Given the description of an element on the screen output the (x, y) to click on. 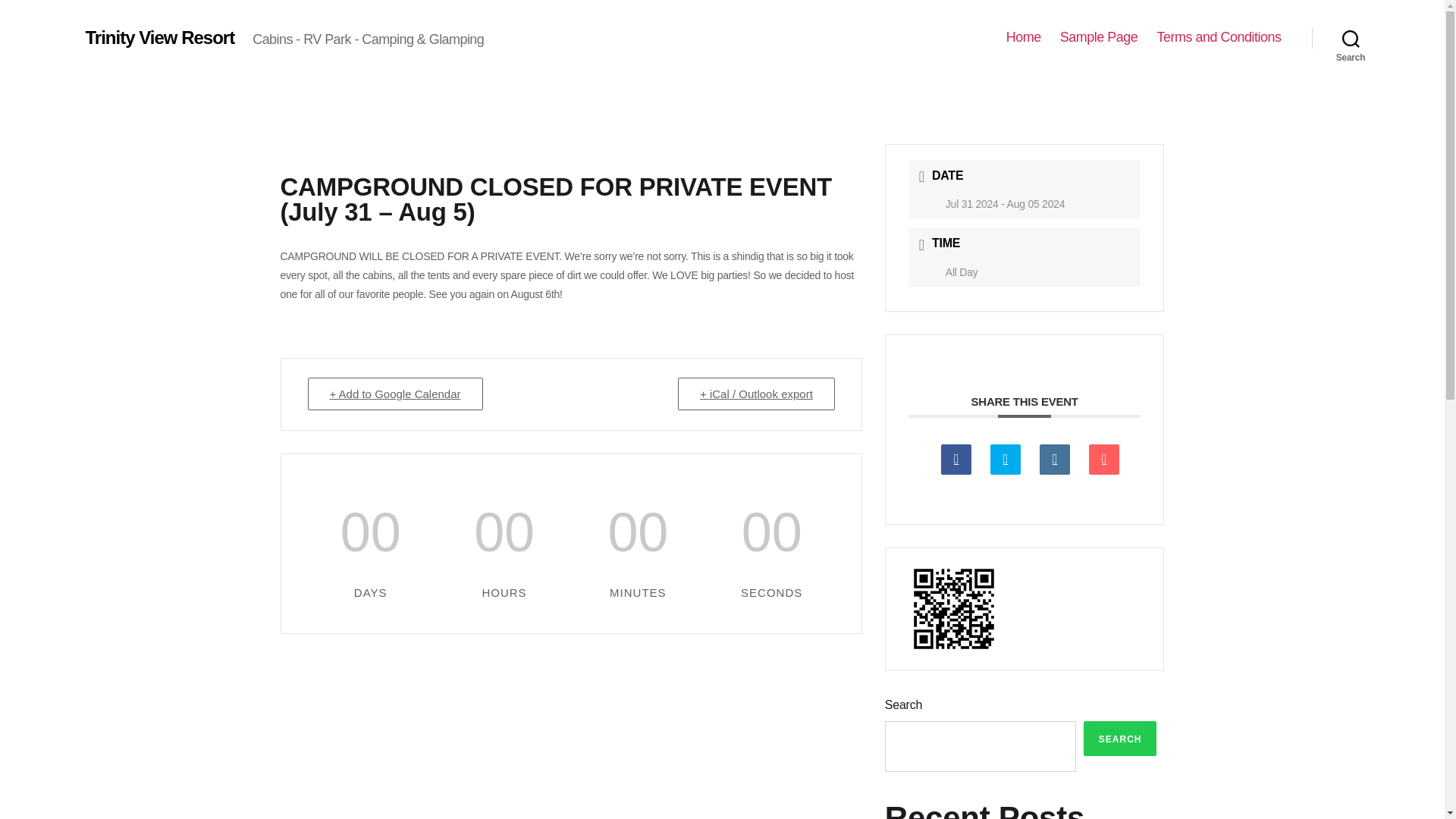
Linkedin (1054, 459)
Search (1350, 37)
Home (1023, 37)
Tweet (1005, 459)
Trinity View Resort (159, 37)
SEARCH (1120, 738)
Email (1104, 459)
Share on Facebook (955, 459)
Terms and Conditions (1218, 37)
Sample Page (1098, 37)
